Given the description of an element on the screen output the (x, y) to click on. 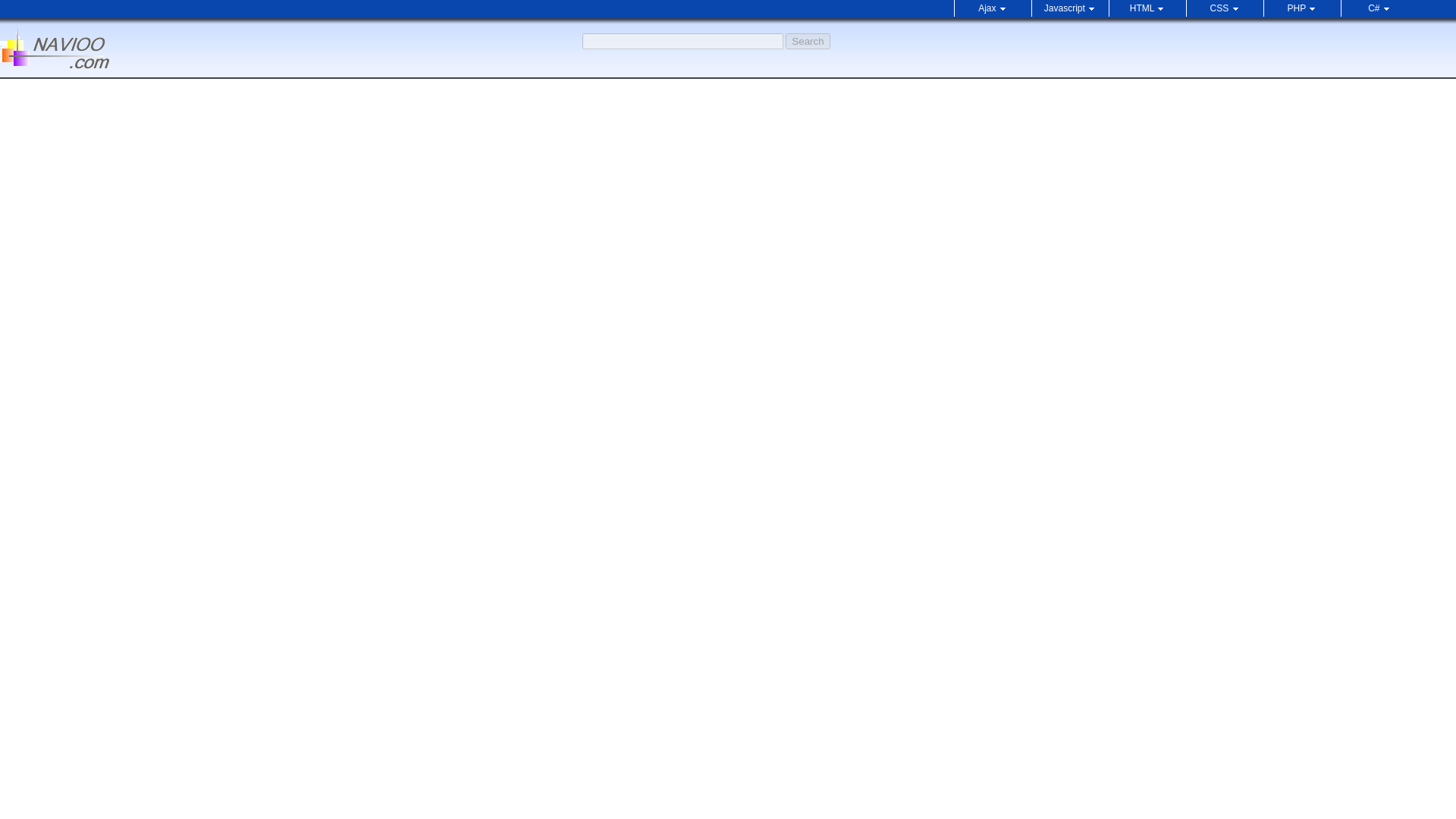
Ajax (992, 8)
HTML (1147, 8)
Search (807, 41)
Javascript (1070, 8)
Search (807, 41)
CSS (1224, 8)
PHP (1301, 8)
